Given the description of an element on the screen output the (x, y) to click on. 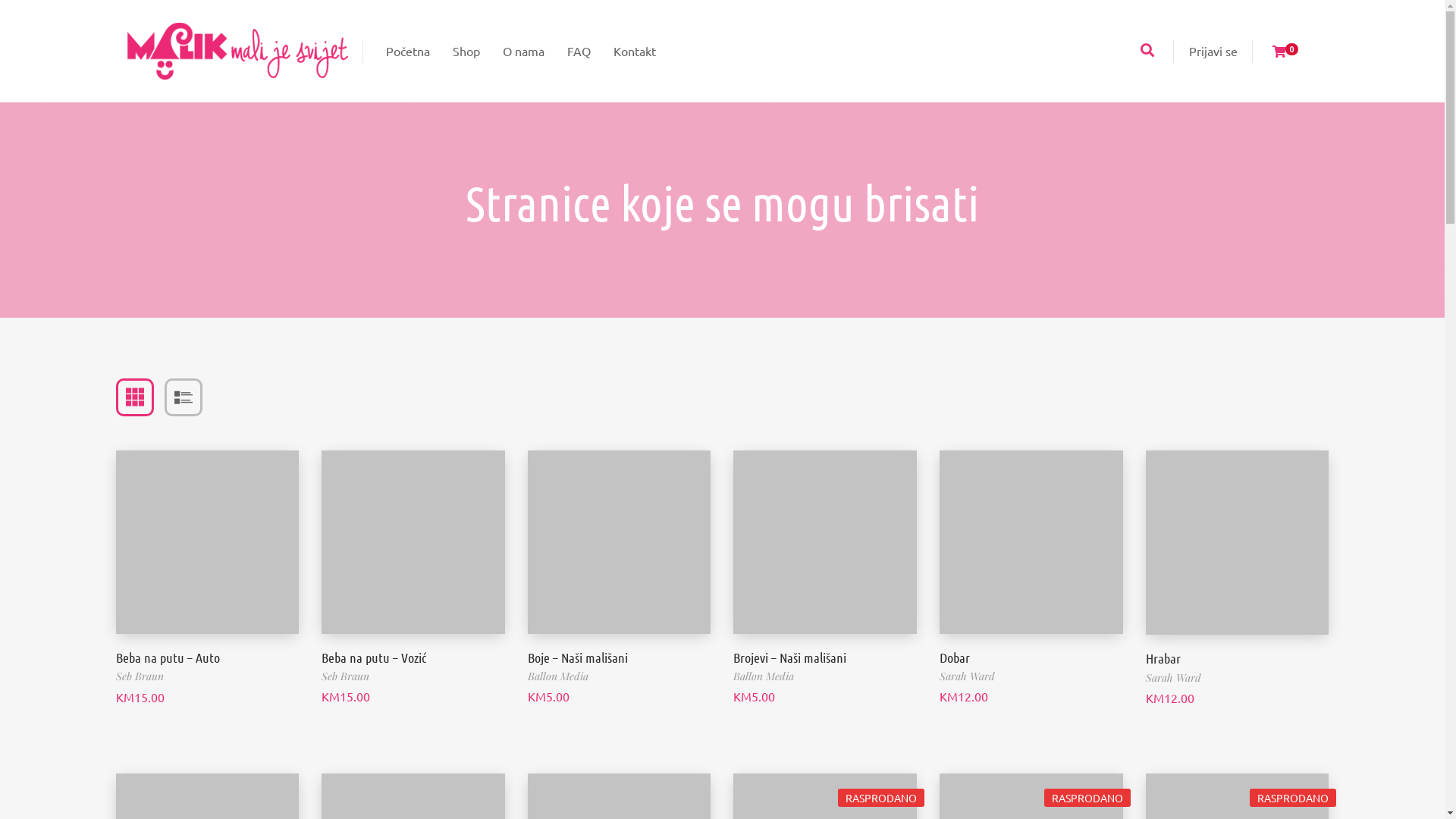
Kontakt Element type: text (634, 51)
Seb Braun Element type: text (139, 675)
Dobar Element type: text (954, 657)
Sarah Ward Element type: text (1173, 677)
Ballon Media Element type: text (763, 675)
Malik Element type: hover (237, 50)
Ballon Media Element type: text (557, 675)
Prijavi se Element type: text (1213, 50)
0 Element type: text (1284, 51)
O nama Element type: text (523, 51)
Shop Element type: text (466, 51)
List Layout Element type: hover (182, 397)
Sarah Ward Element type: text (966, 675)
Seb Braun Element type: text (345, 675)
Hrabar Element type: text (1162, 657)
FAQ Element type: text (578, 51)
Grid Layout Element type: hover (134, 397)
